Given the description of an element on the screen output the (x, y) to click on. 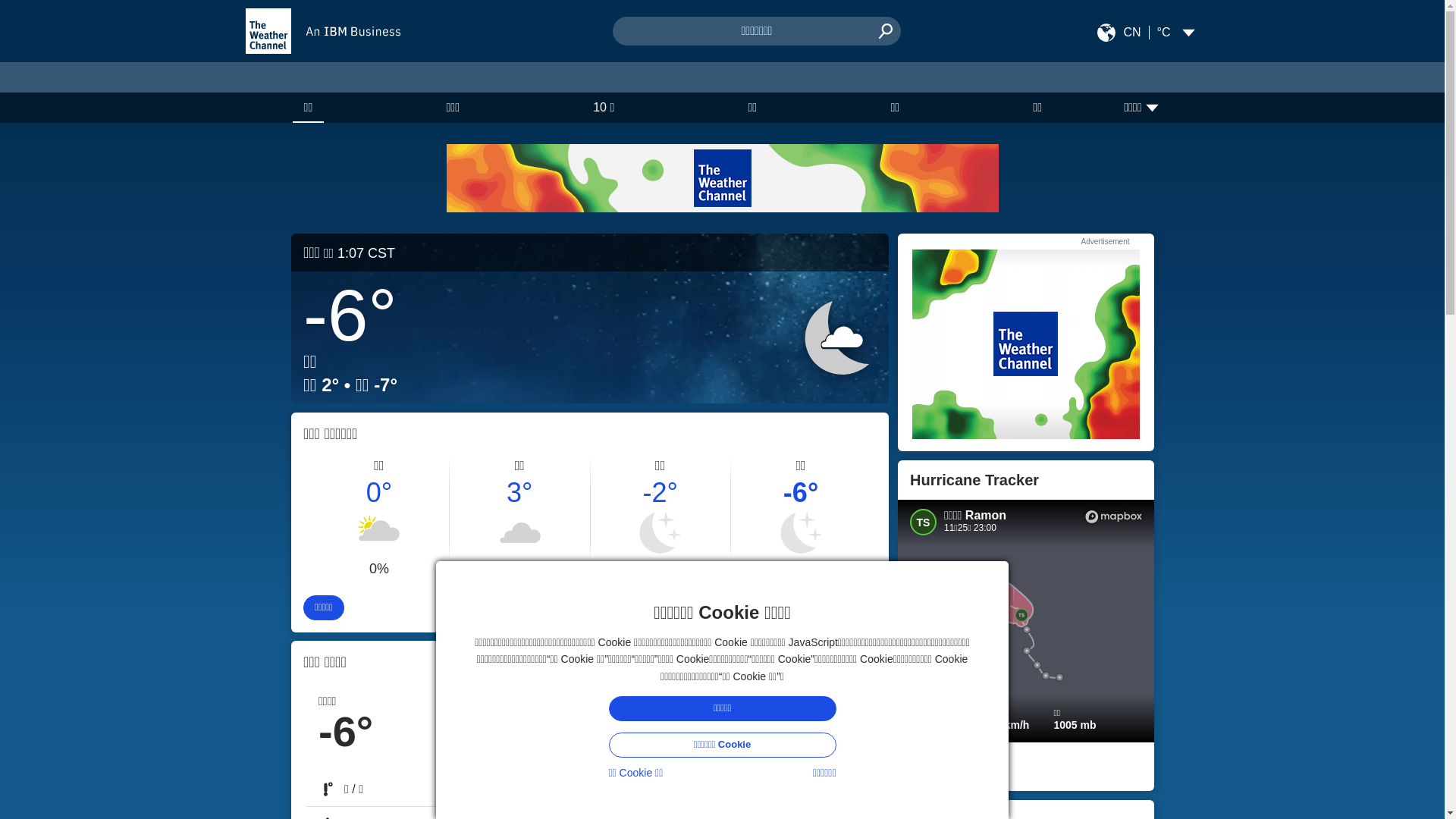
3rd party ad content Element type: hover (1025, 344)
3rd party ad content Element type: hover (721, 178)
The Weather Channel Element type: text (267, 30)
